Given the description of an element on the screen output the (x, y) to click on. 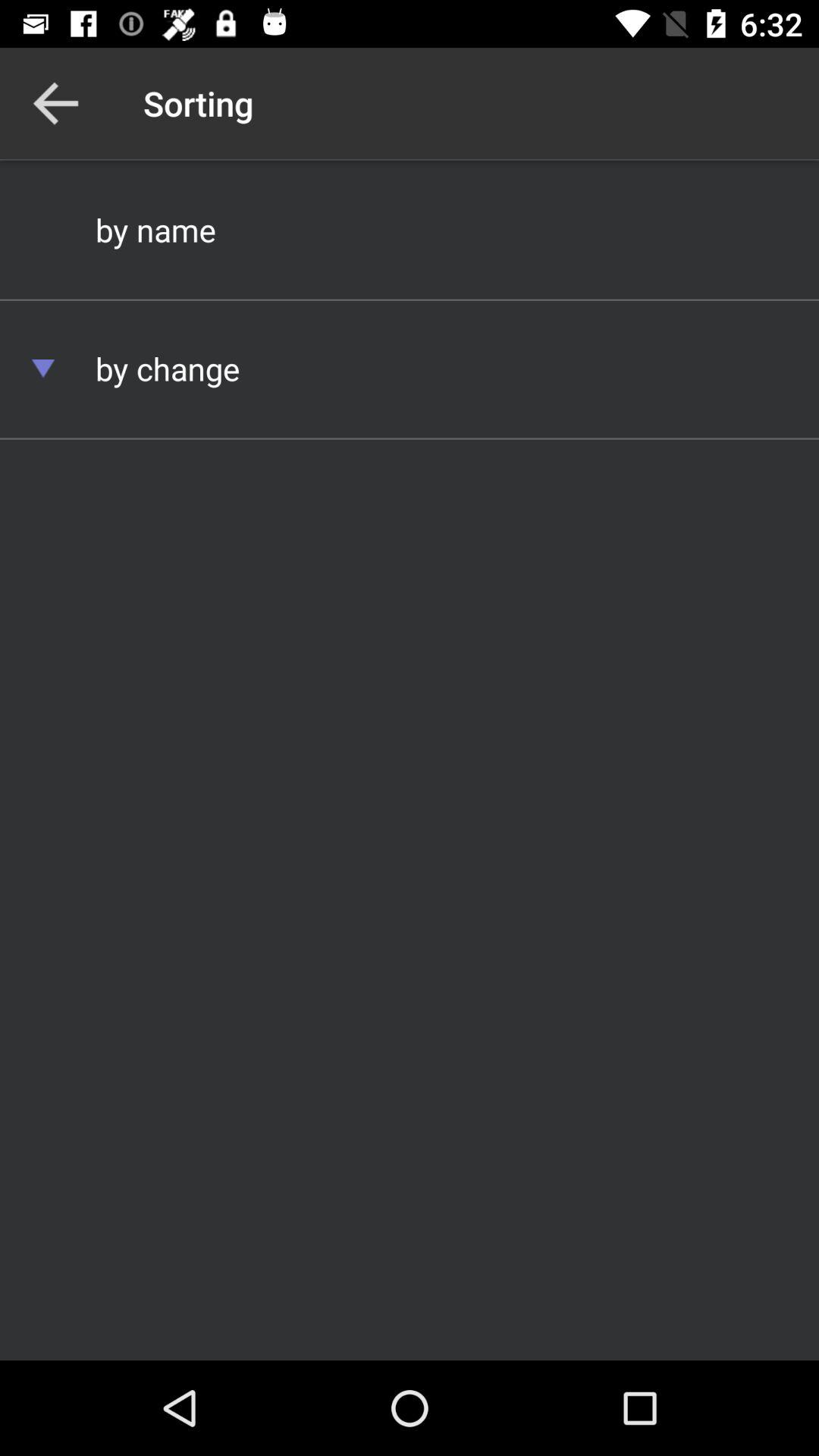
turn off by change icon (409, 368)
